Given the description of an element on the screen output the (x, y) to click on. 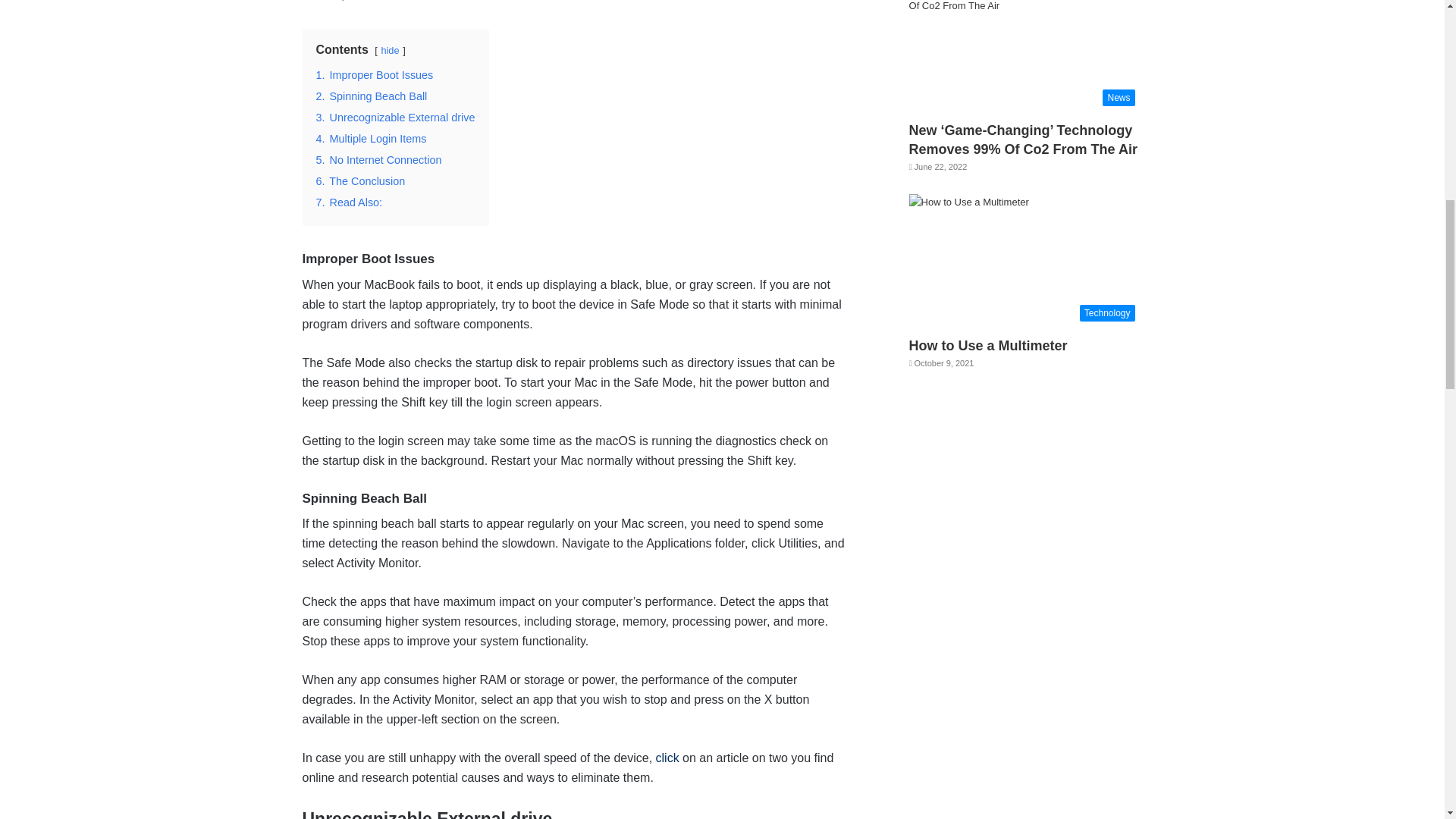
2. Spinning Beach Ball (370, 96)
hide (389, 50)
6. The Conclusion (359, 181)
7. Read Also: (348, 202)
5. No Internet Connection (378, 159)
4. Multiple Login Items (370, 138)
3. Unrecognizable External drive (394, 117)
click (667, 757)
1. Improper Boot Issues (373, 74)
